Given the description of an element on the screen output the (x, y) to click on. 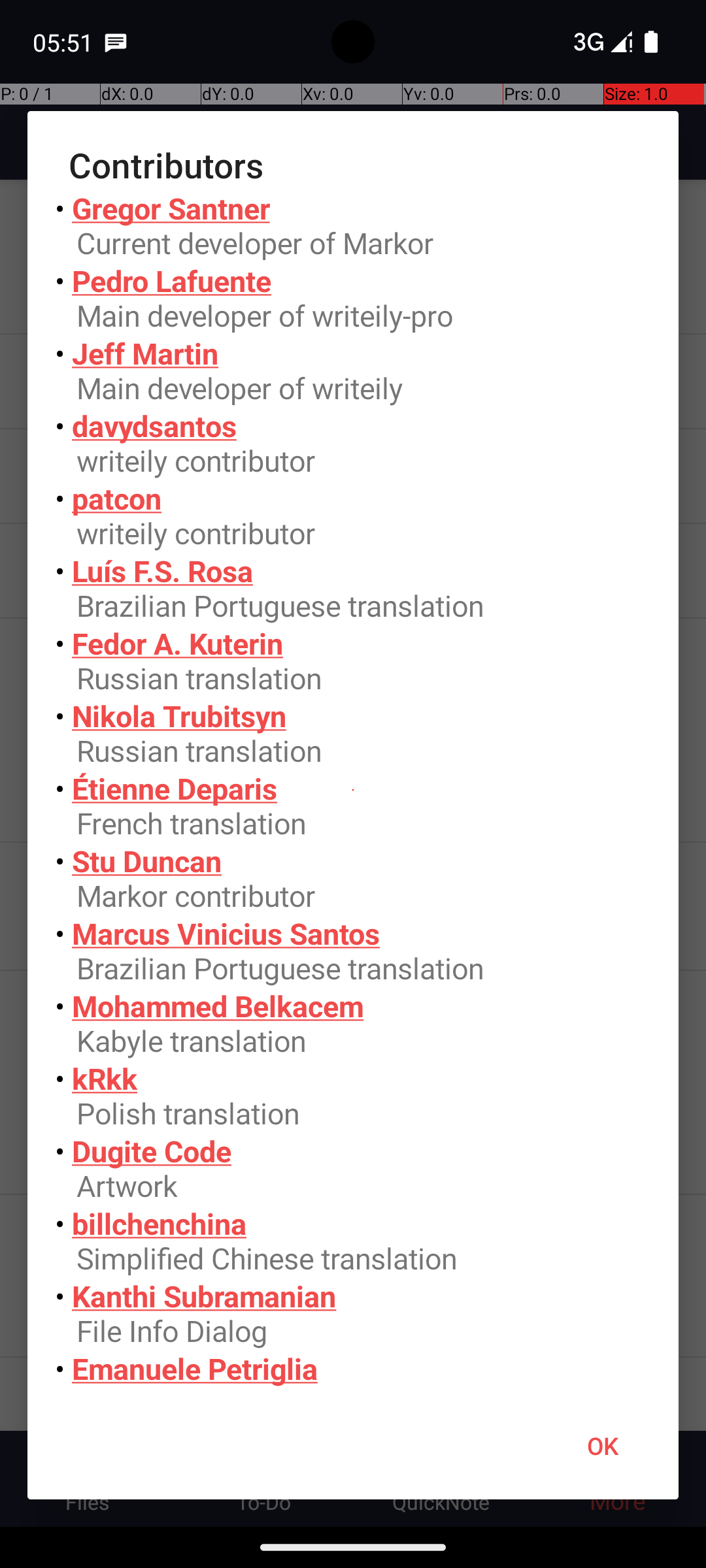
Contributors Element type: android.widget.TextView (352, 164)
• Gregor Santner
   Current developer of Markor
• Pedro Lafuente
   Main developer of writeily-pro
• Jeff Martin
   Main developer of writeily
• davydsantos
   writeily contributor
• patcon
   writeily contributor
• Luís F.S. Rosa
   Brazilian Portuguese translation
• Fedor A. Kuterin
   Russian translation
• Nikola Trubitsyn
   Russian translation
• Étienne Deparis
   French translation
• Stu Duncan
   Markor contributor
• Marcus Vinicius Santos
   Brazilian Portuguese translation
• Mohammed Belkacem
   Kabyle translation
• kRkk
   Polish translation
• Dugite Code
   Artwork
• billchenchina
   Simplified Chinese translation
• Kanthi Subramanian
   File Info Dialog
• Emanuele Petriglia
   Italian translation
• Tiago Danin
   Brazilian Portuguese translation
• Jesica Chu
   Spanish and Traiditonal Chinese translation
• Ankush S Shetkar
   Added Chrome custom tabs for urls
• Lars Pontoppidan
   Danish translation
• Amaya Lim
   Improve project description
• Jawkwon Im
   Add keep screen on
• Mark Goldman
   Added sorting for todo.txt, improved wiki
• natanelho
   Hebrew translation
• Alexander Sachse
   Added simple word counter
• Kyle Phelps
   Added functionality to share multiple files from file browser
• Vladislav Glinsky
   Ukrainian/Russian translations
• David Hebbeker
   Added tooltips for text actions.
• Harshad Srinivasan
   Added functionality to handle leading spaces in lists.
• Niels
   Added encryption for textfile contents.
• Helguli
   Added fast scroll to editor.
• Patricia Heimfarth
   Added checkbox for todo completion date
• Peter Schwede
   Added Zim-Wiki support.
• Frederic Jacob
   Added Zim-Wiki highlighting, text actions, view mode, page creation.
• Winston Feng
   Support spaces in URL.
• k3b
   Added CSV-Support.
 Element type: android.widget.TextView (352, 790)
05:51 Element type: android.widget.TextView (64, 41)
